Given the description of an element on the screen output the (x, y) to click on. 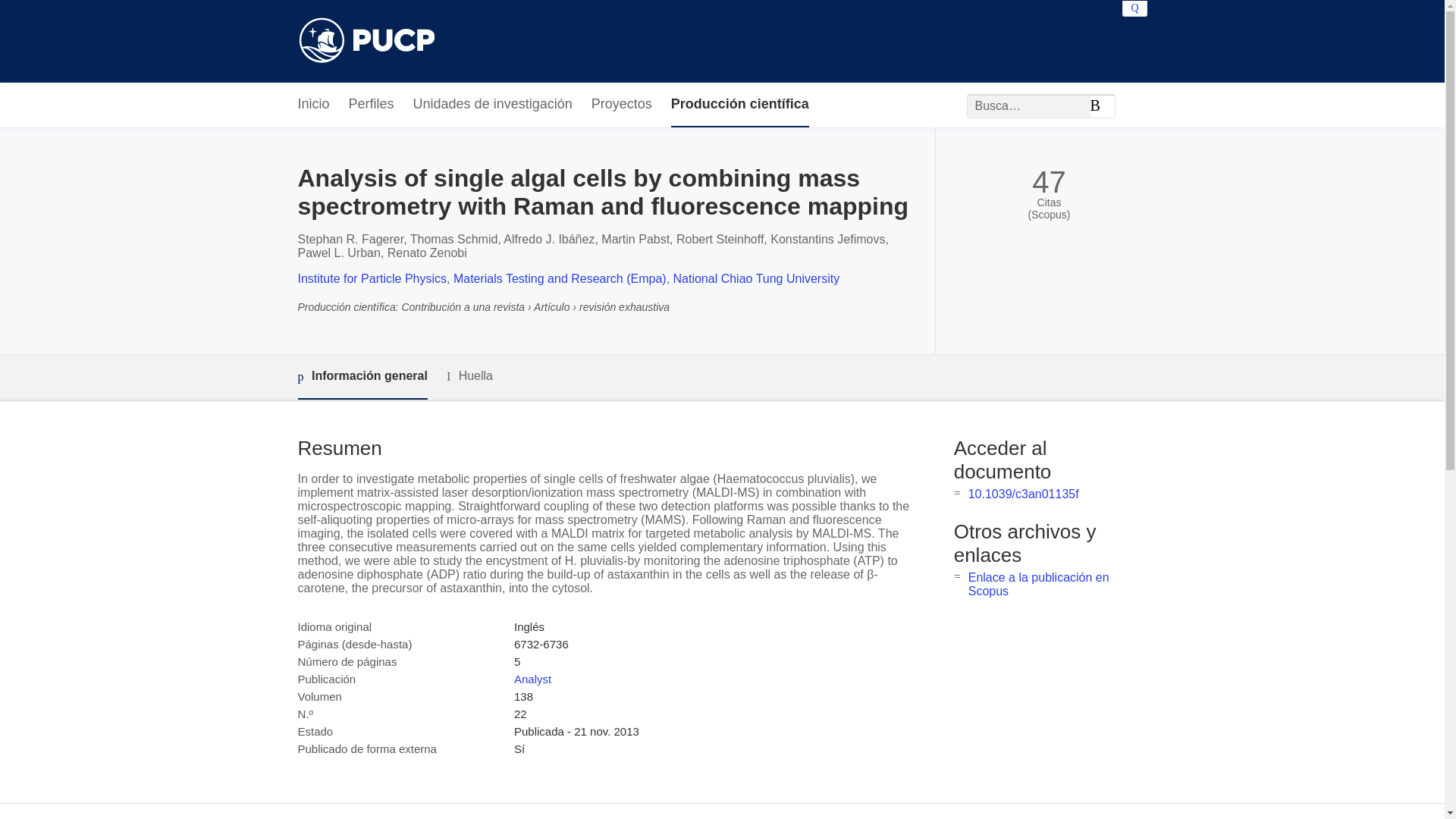
Institute for Particle Physics (371, 278)
Proyectos (621, 104)
Perfiles (371, 104)
Analyst (532, 678)
Inicio (313, 104)
Huella (469, 376)
National Chiao Tung University (756, 278)
